Given the description of an element on the screen output the (x, y) to click on. 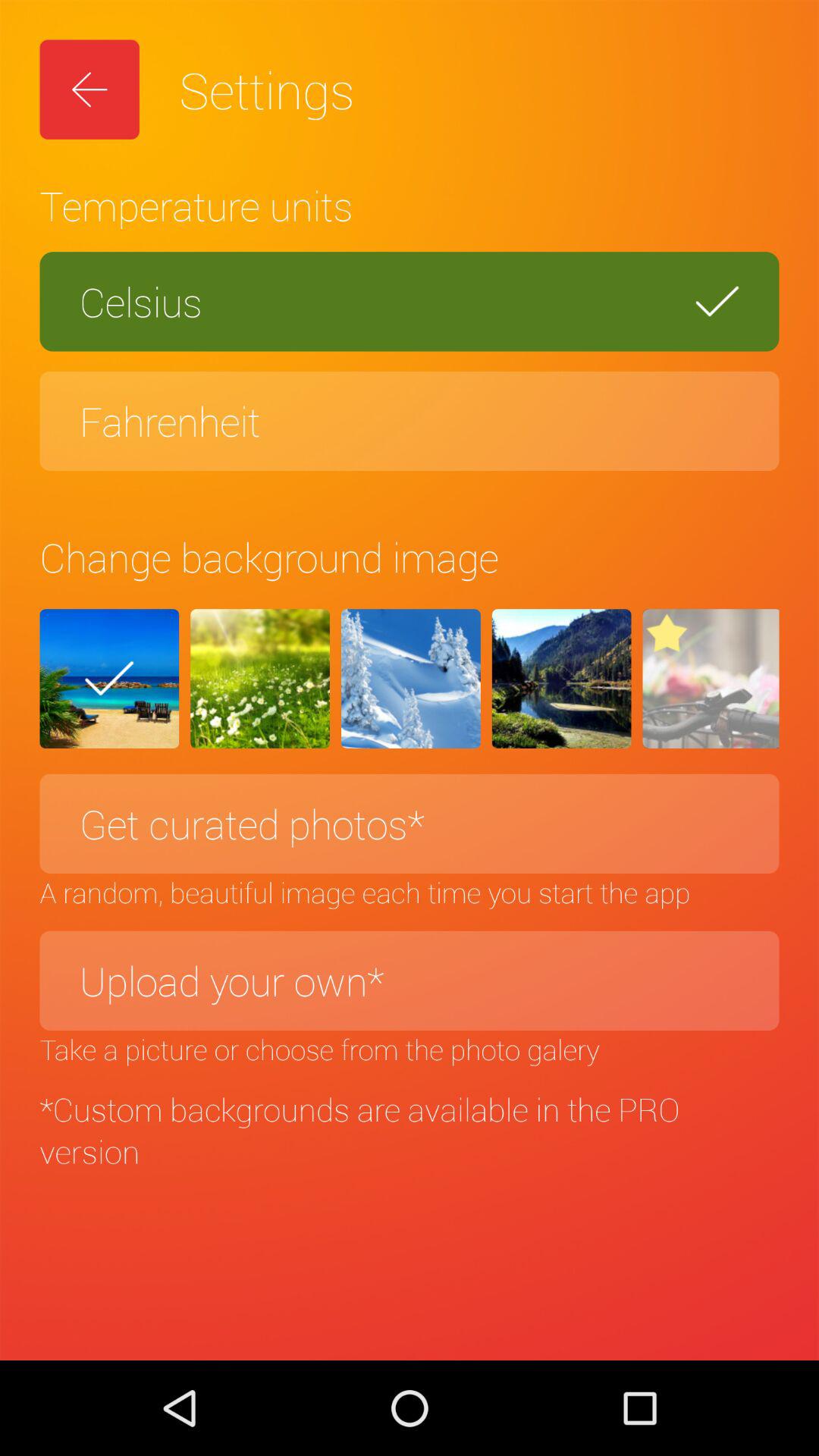
click the item above the get curated photos* icon (710, 678)
